Given the description of an element on the screen output the (x, y) to click on. 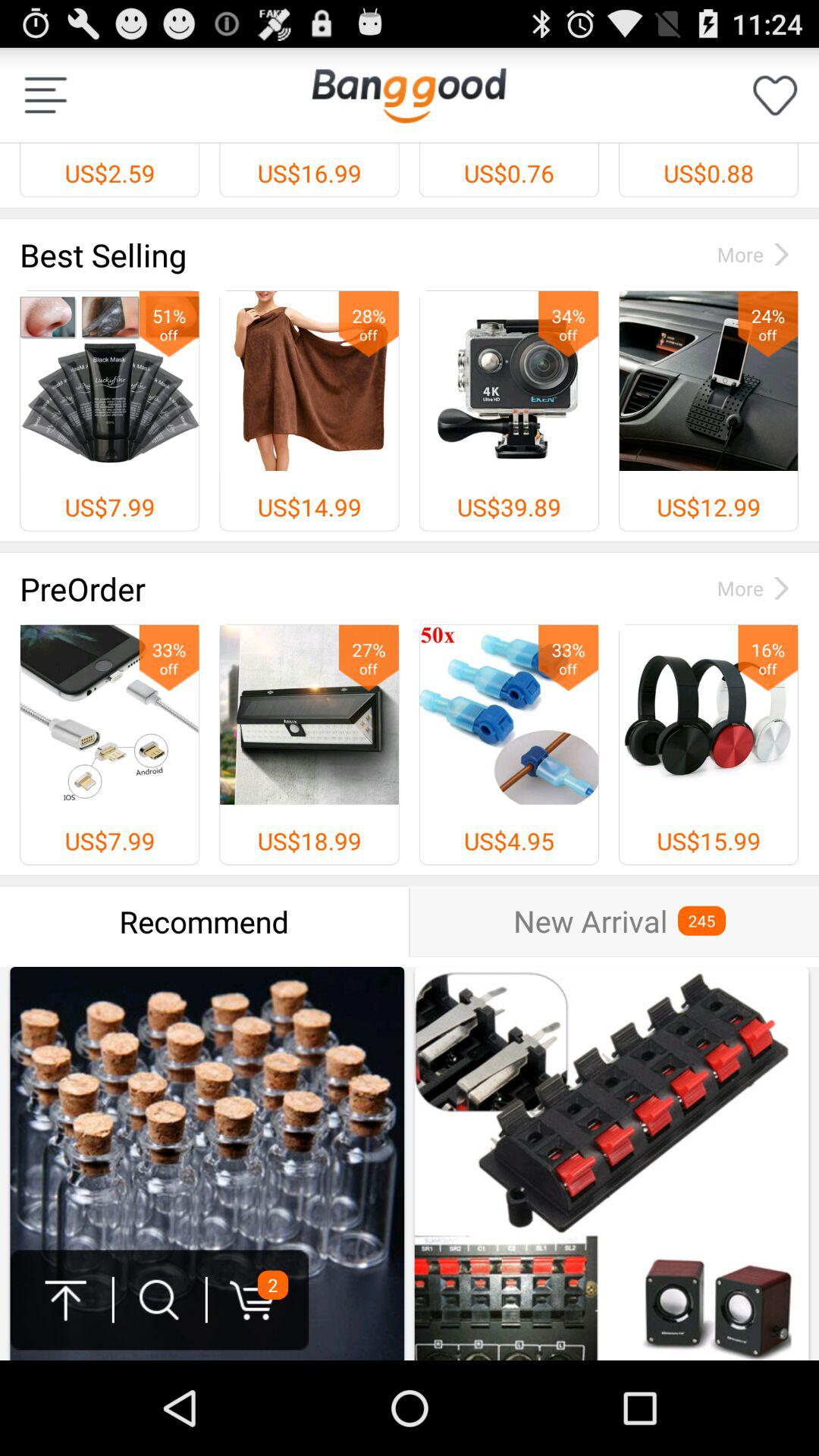
tap app to the right of us$0.76 item (775, 95)
